Given the description of an element on the screen output the (x, y) to click on. 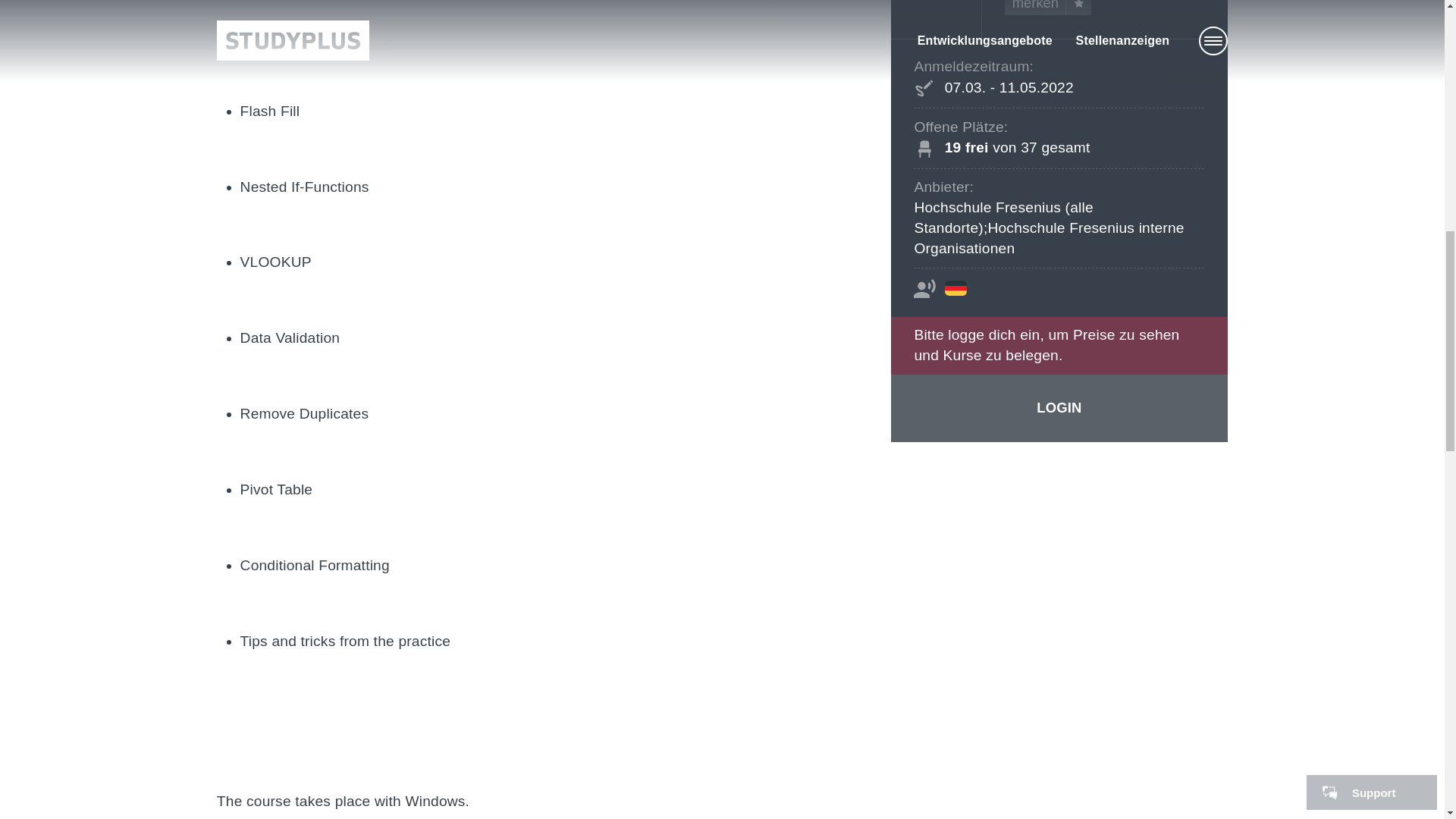
LOGIN (1059, 407)
merken (1047, 7)
